Given the description of an element on the screen output the (x, y) to click on. 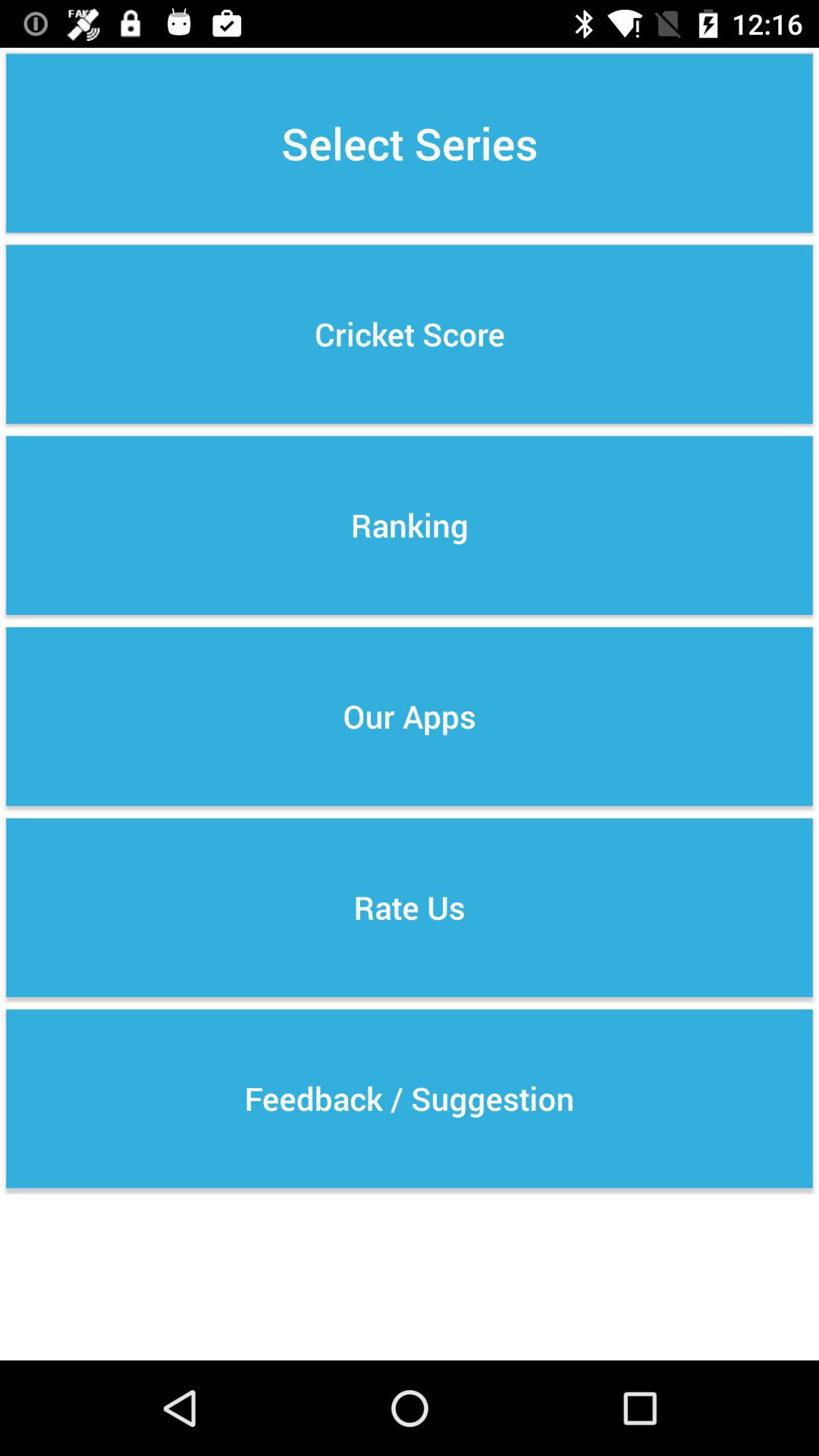
swipe until feedback / suggestion icon (409, 1098)
